Given the description of an element on the screen output the (x, y) to click on. 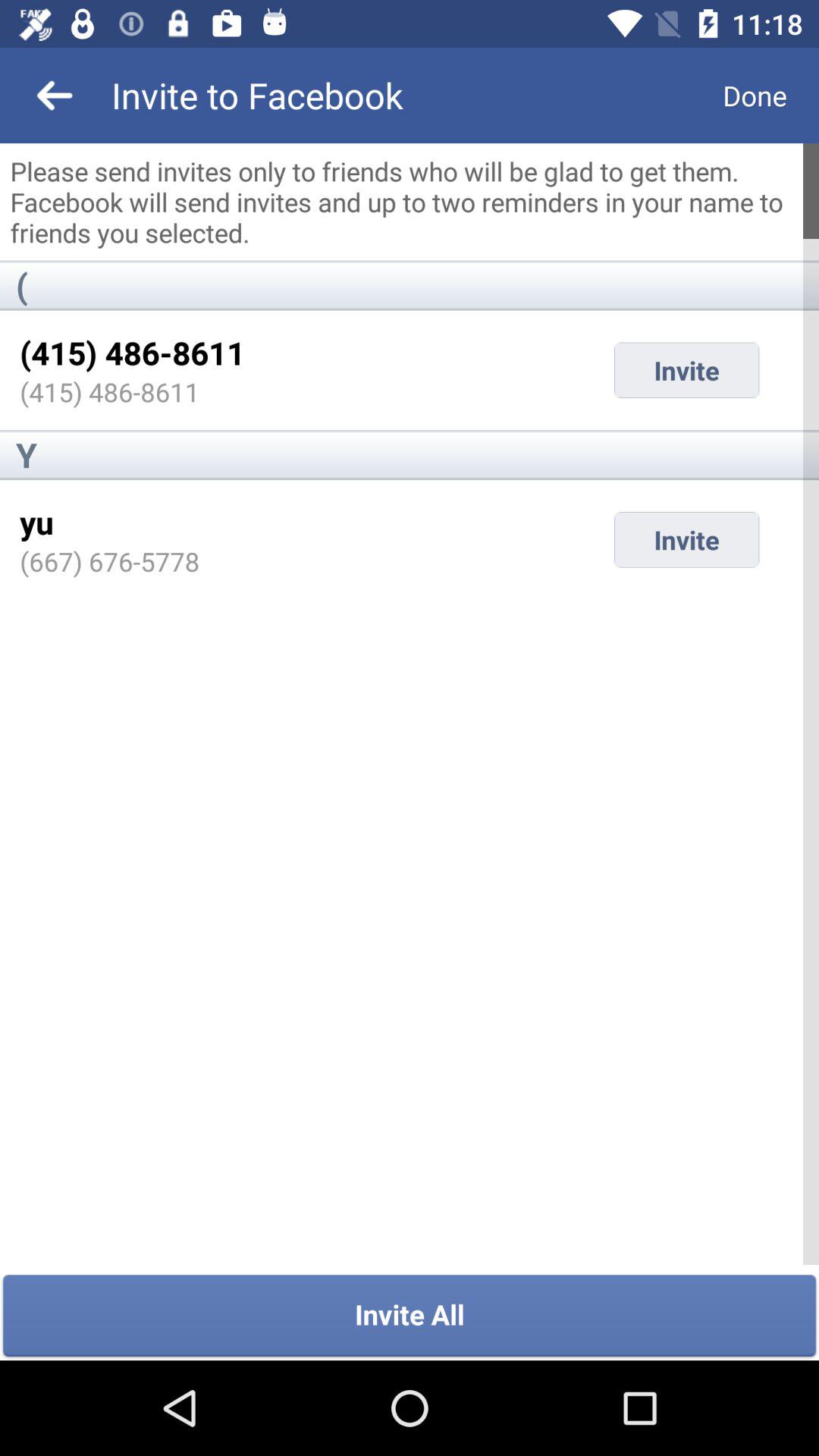
turn on the done (755, 95)
